Given the description of an element on the screen output the (x, y) to click on. 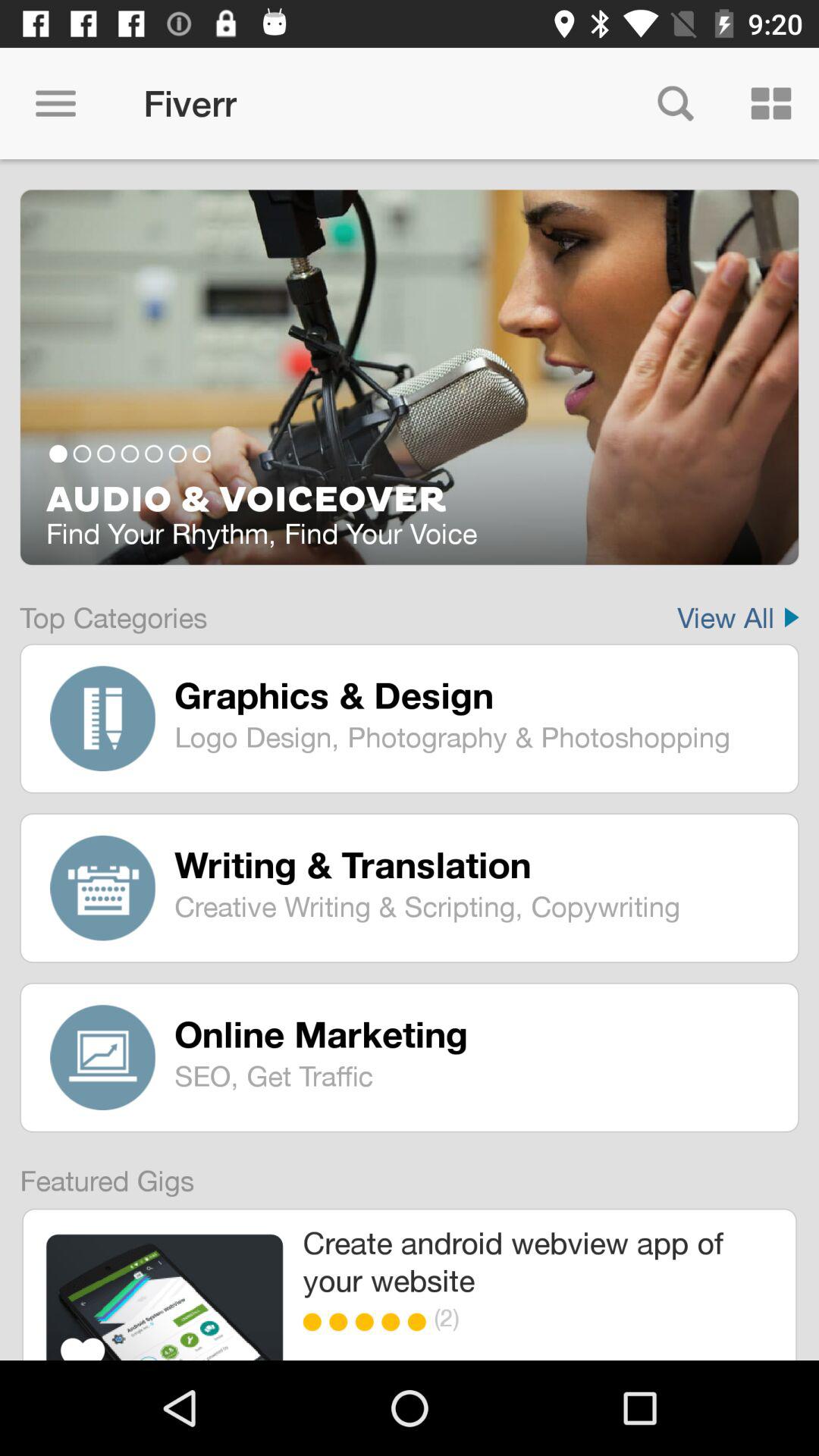
scroll until the seo, get traffic icon (475, 1075)
